Given the description of an element on the screen output the (x, y) to click on. 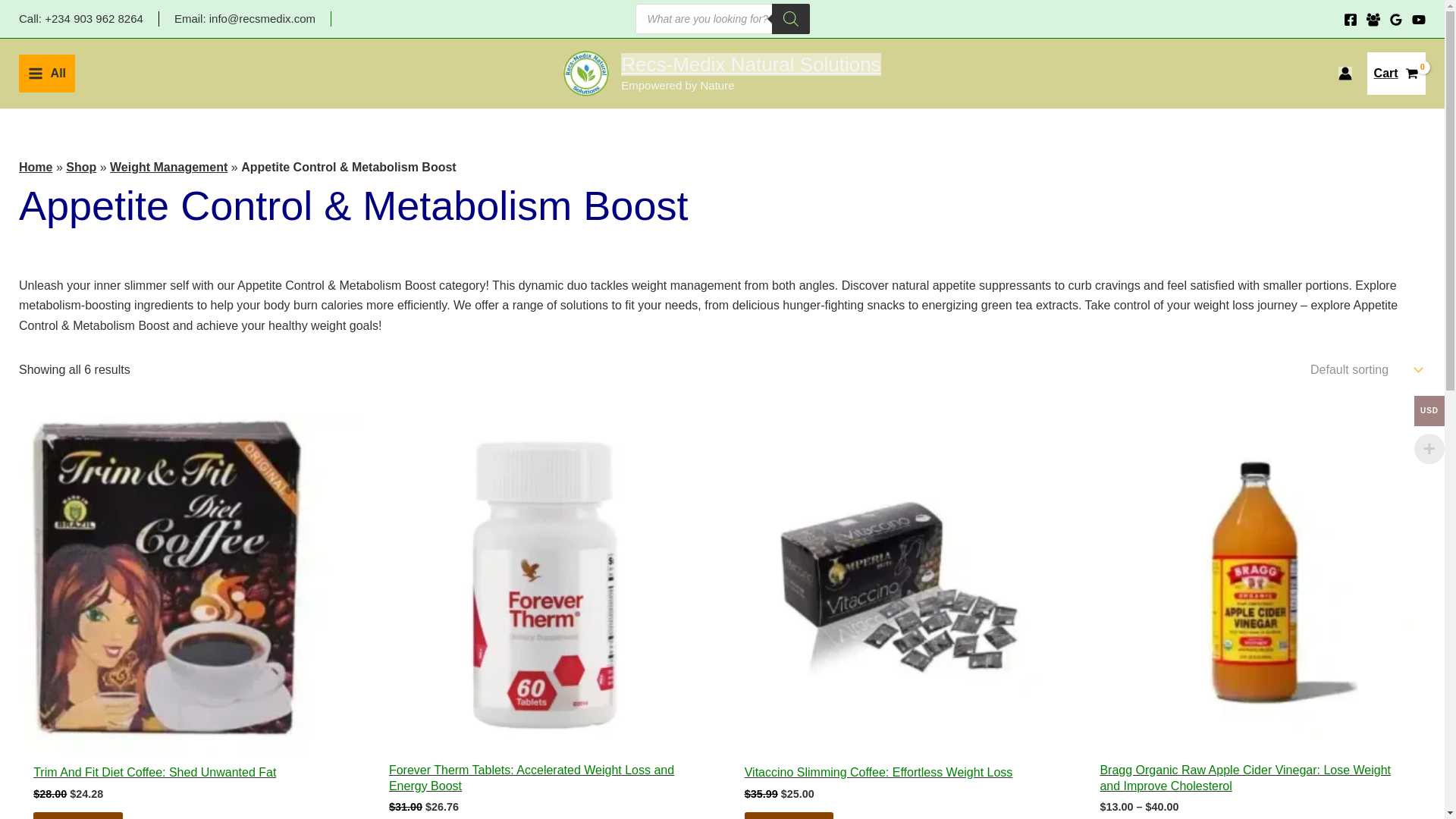
Recs-Medix Natural Solutions (46, 73)
Cart (750, 64)
